Given the description of an element on the screen output the (x, y) to click on. 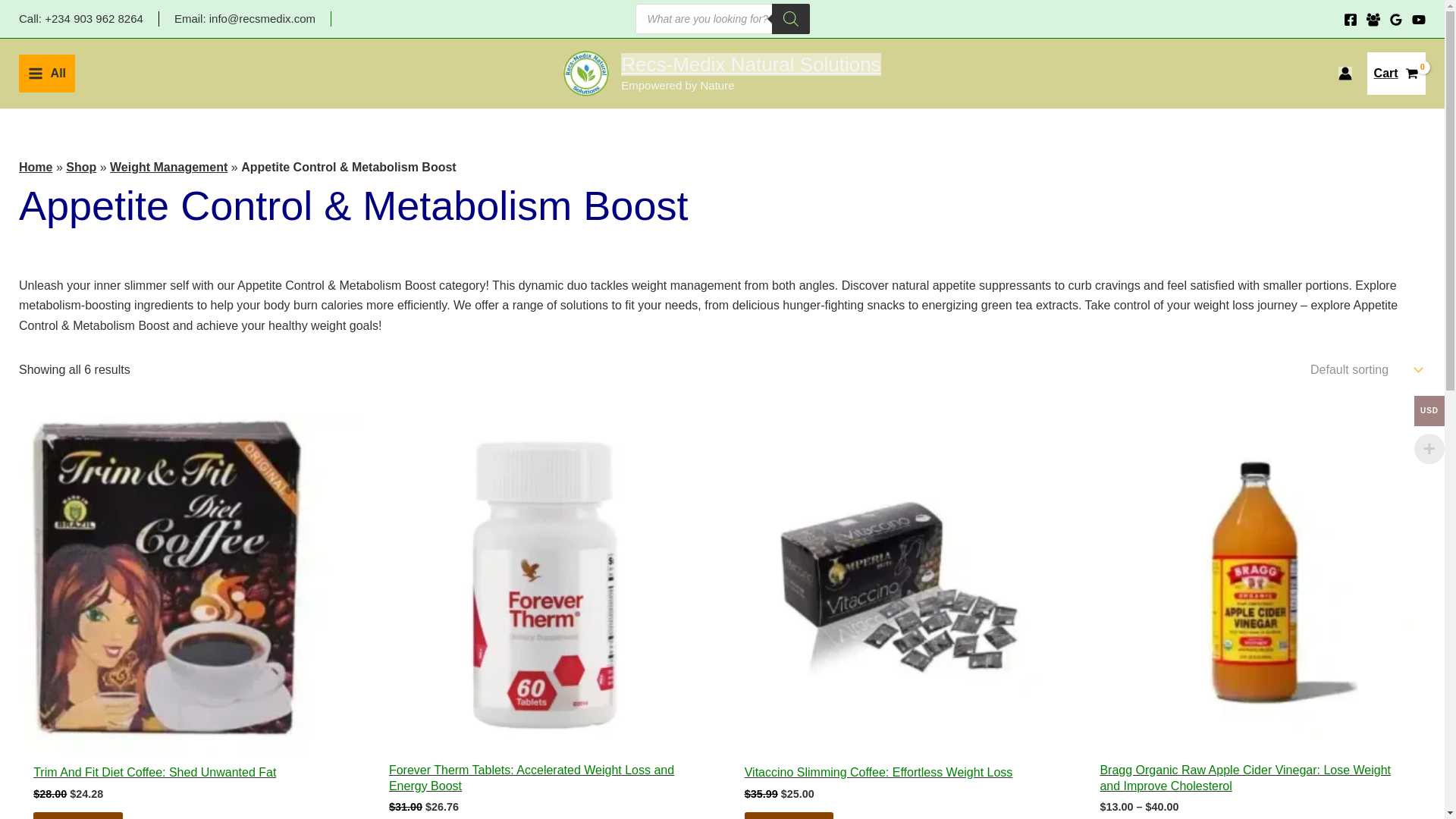
Recs-Medix Natural Solutions (46, 73)
Cart (750, 64)
